Given the description of an element on the screen output the (x, y) to click on. 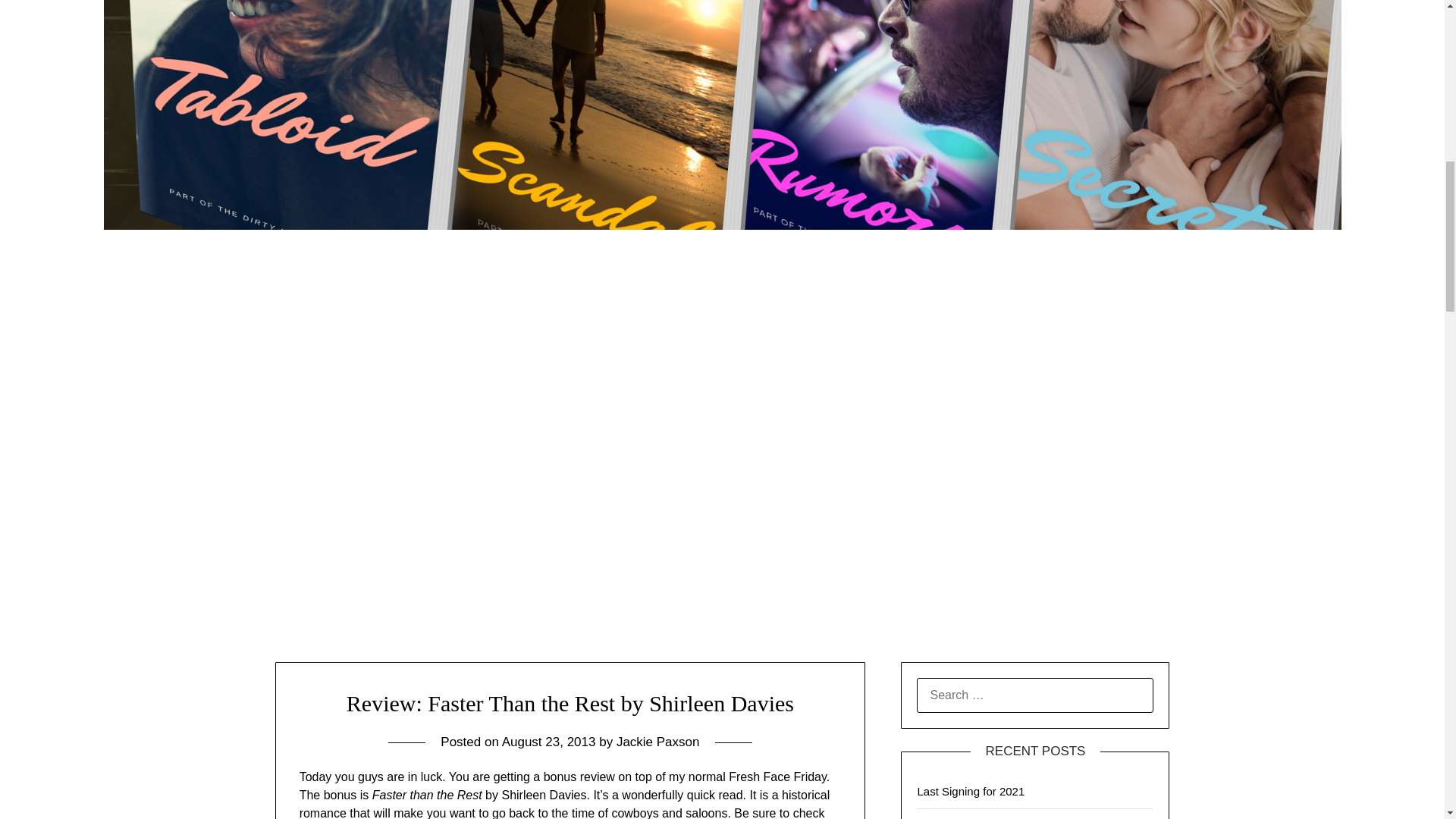
August 23, 2013 (548, 741)
Jackie Paxson (657, 741)
